Given the description of an element on the screen output the (x, y) to click on. 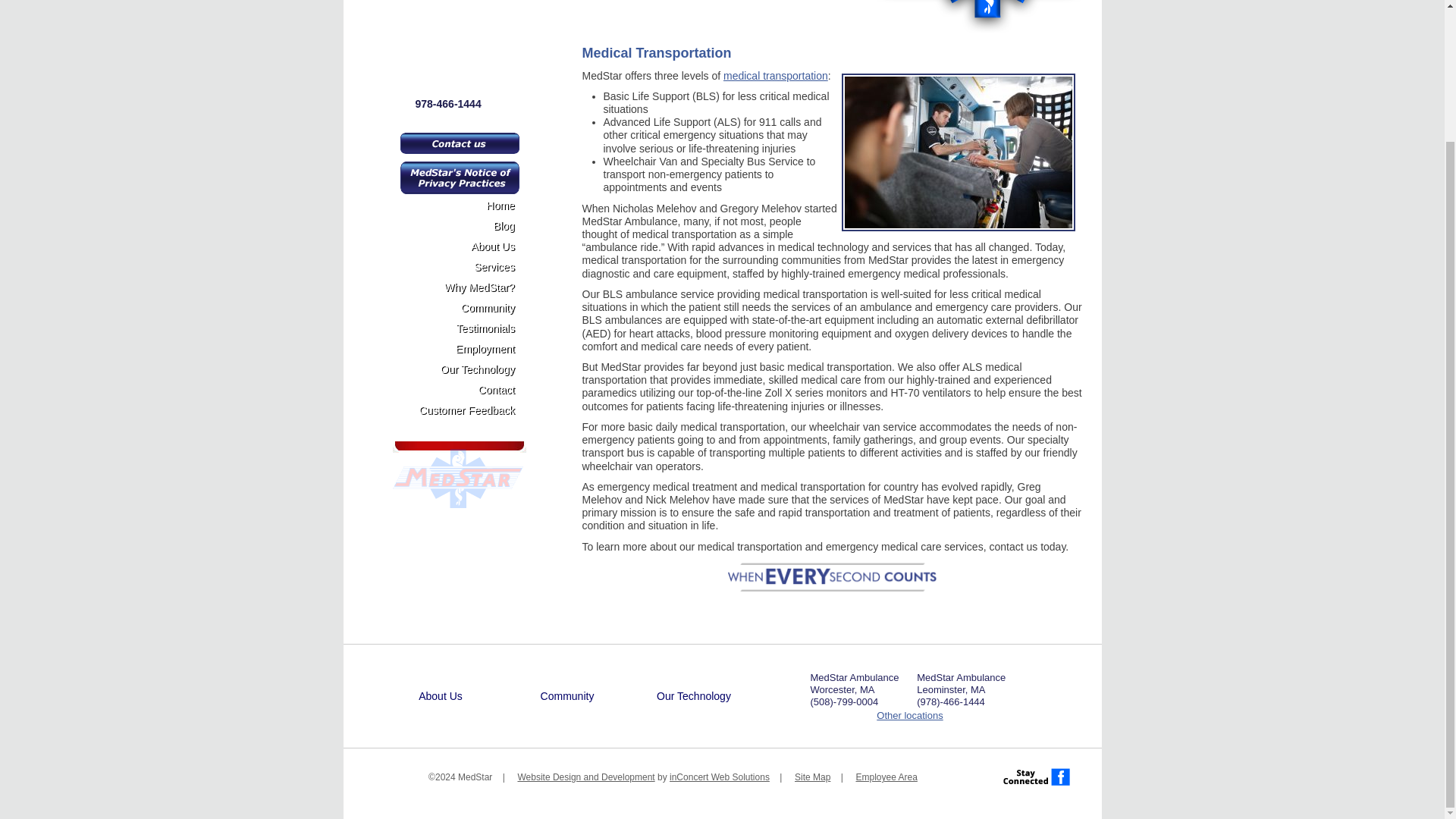
Why MedStar? (465, 289)
Other locations (909, 715)
Our Technology (465, 371)
Our Technology (694, 696)
Blog (465, 227)
Services (465, 268)
Testimonials (465, 330)
Home (441, 671)
Community (465, 309)
Testimonials (566, 721)
